Given the description of an element on the screen output the (x, y) to click on. 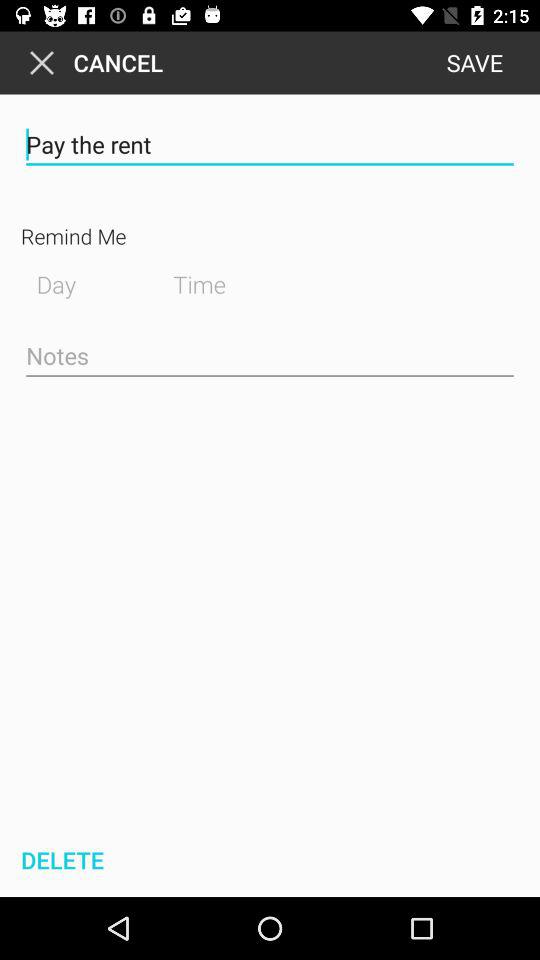
turn on the delete at the bottom left corner (60, 859)
